Given the description of an element on the screen output the (x, y) to click on. 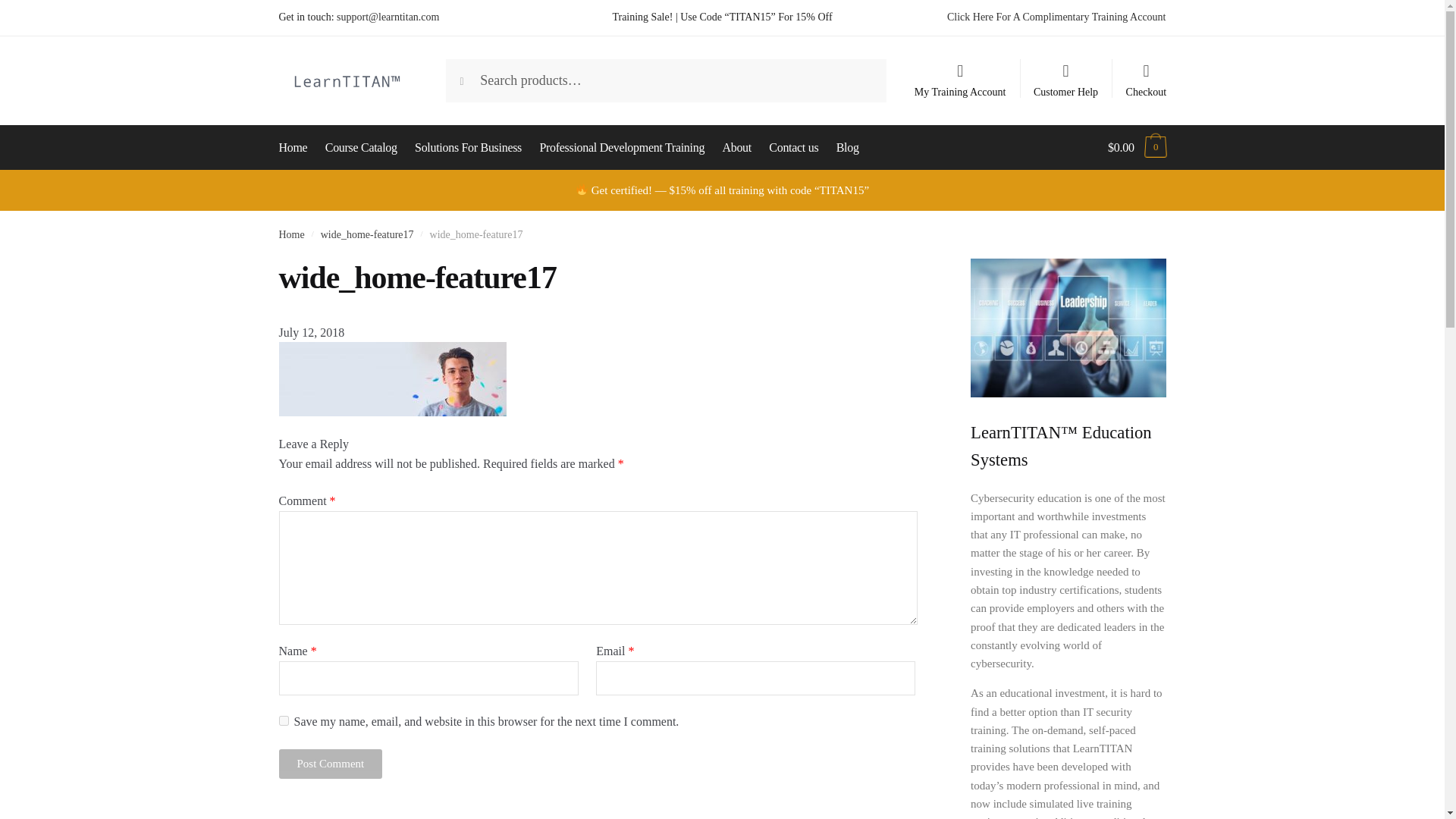
Customer Help (1066, 73)
Post Comment (330, 763)
Contact us (793, 147)
Click Here For A Complimentary Training Account (1056, 16)
Post Comment (330, 763)
Course Catalog (361, 147)
Solutions For Business (467, 147)
Checkout (1145, 73)
yes (283, 720)
Home (291, 234)
Search (475, 73)
Professional Development Training (622, 147)
My Training Account (959, 73)
